Given the description of an element on the screen output the (x, y) to click on. 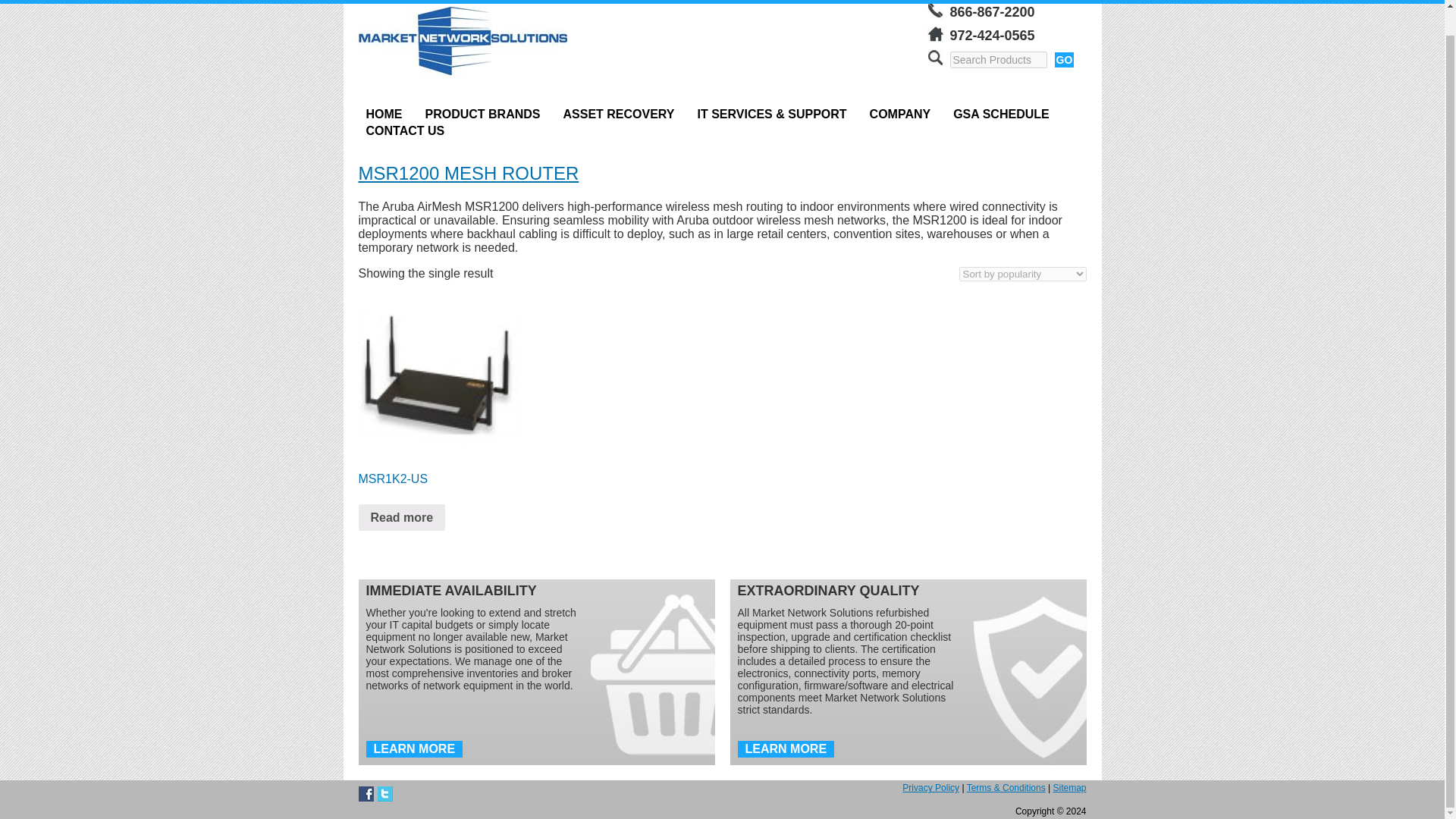
PRODUCT BRANDS (481, 115)
HOME (383, 115)
GO (1064, 58)
Search Products (997, 59)
GO (1064, 58)
